Given the description of an element on the screen output the (x, y) to click on. 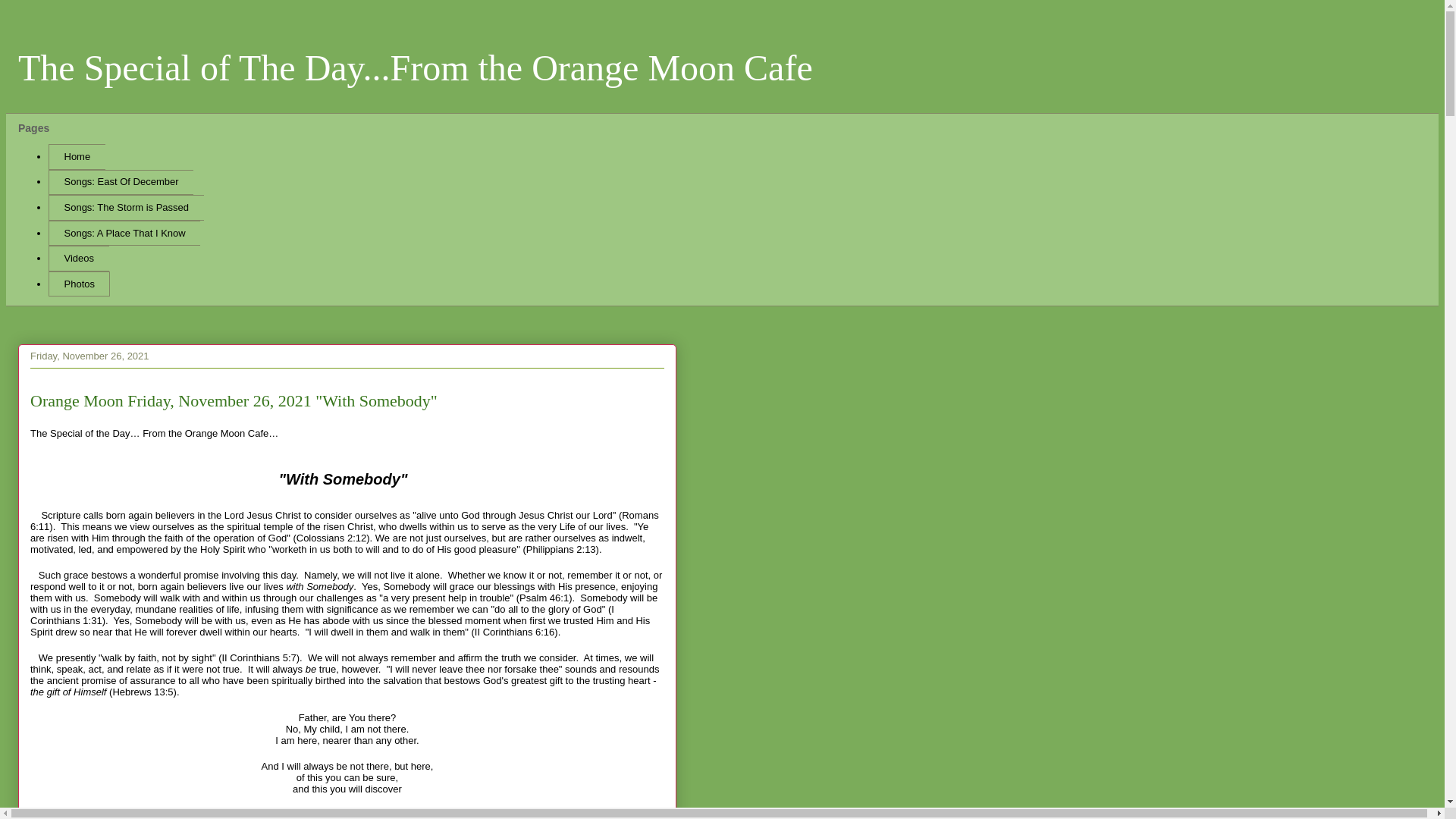
Songs: The Storm is Passed (125, 207)
The Special of The Day...From the Orange Moon Cafe (414, 67)
Home (76, 156)
Photos (79, 284)
Songs: East Of December (120, 182)
Songs: A Place That I Know (124, 233)
Videos (78, 258)
